Given the description of an element on the screen output the (x, y) to click on. 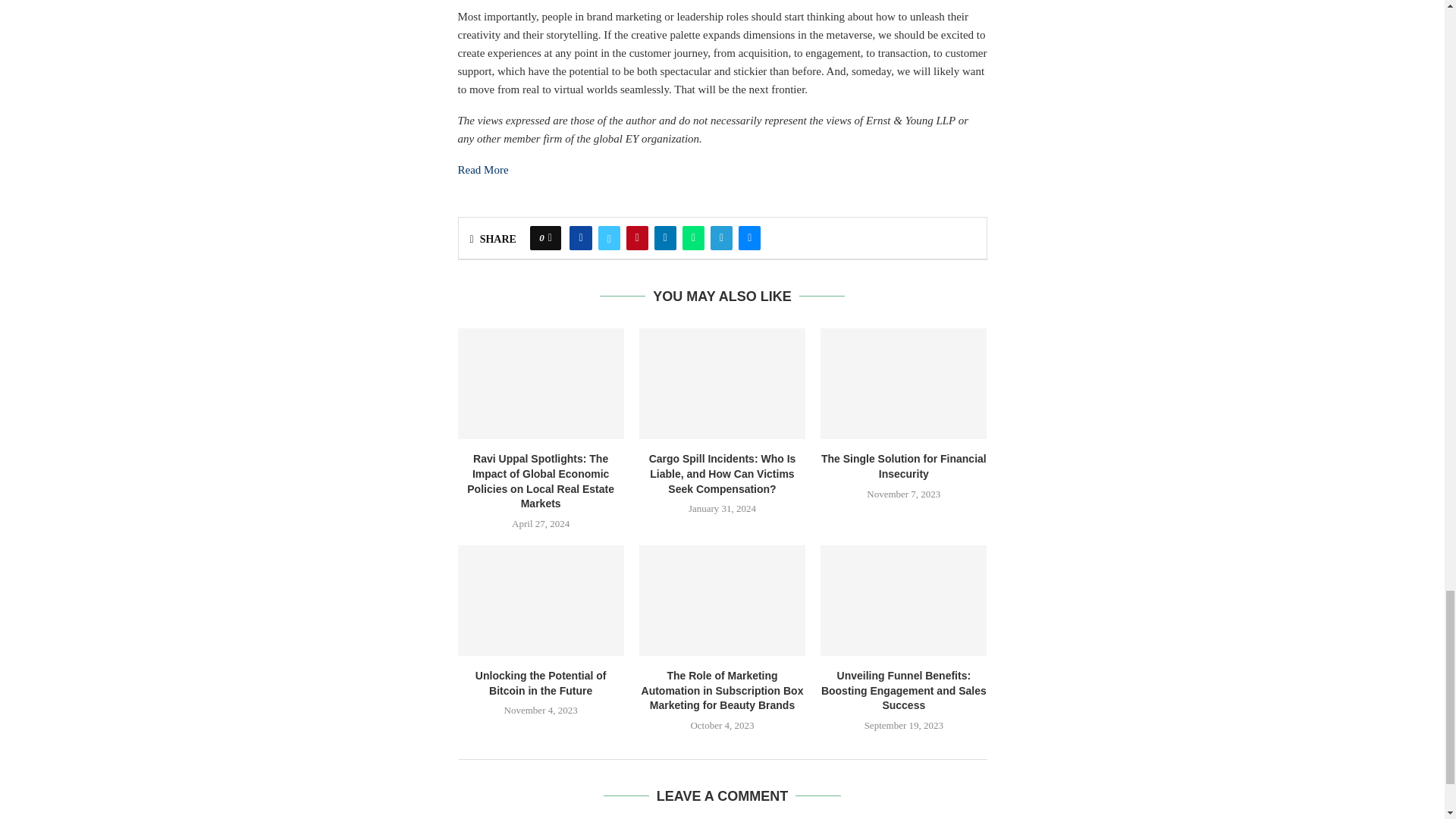
Unlocking the Potential of Bitcoin in the Future (541, 600)
The Single Solution for Financial Insecurity (904, 383)
